Given the description of an element on the screen output the (x, y) to click on. 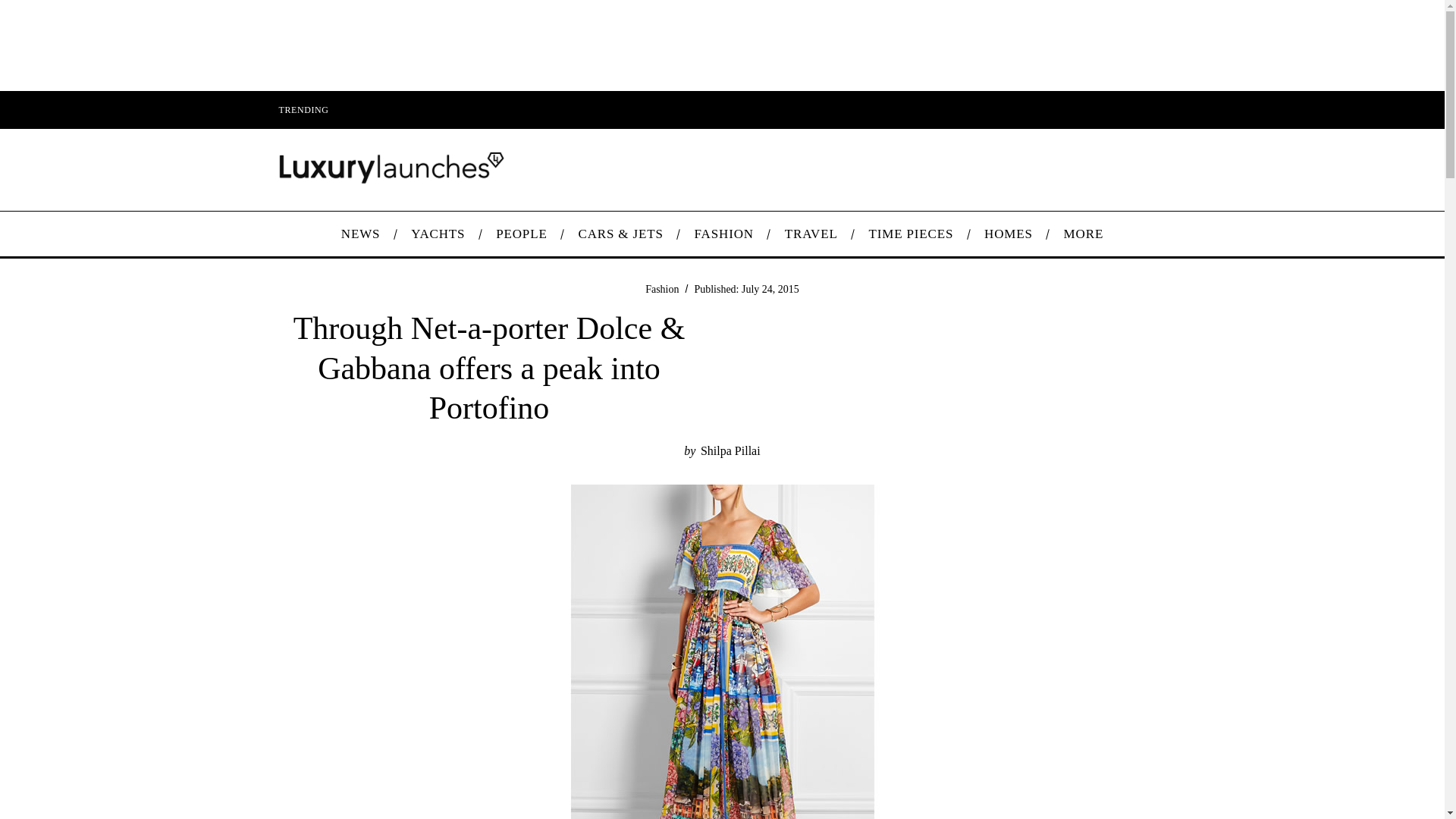
MORE (1083, 233)
HOMES (1008, 233)
TRENDING (302, 109)
Fashion (661, 288)
YACHTS (438, 233)
TRAVEL (810, 233)
FASHION (723, 233)
TIME PIECES (911, 233)
PEOPLE (521, 233)
Shilpa Pillai (730, 450)
NEWS (359, 233)
